Given the description of an element on the screen output the (x, y) to click on. 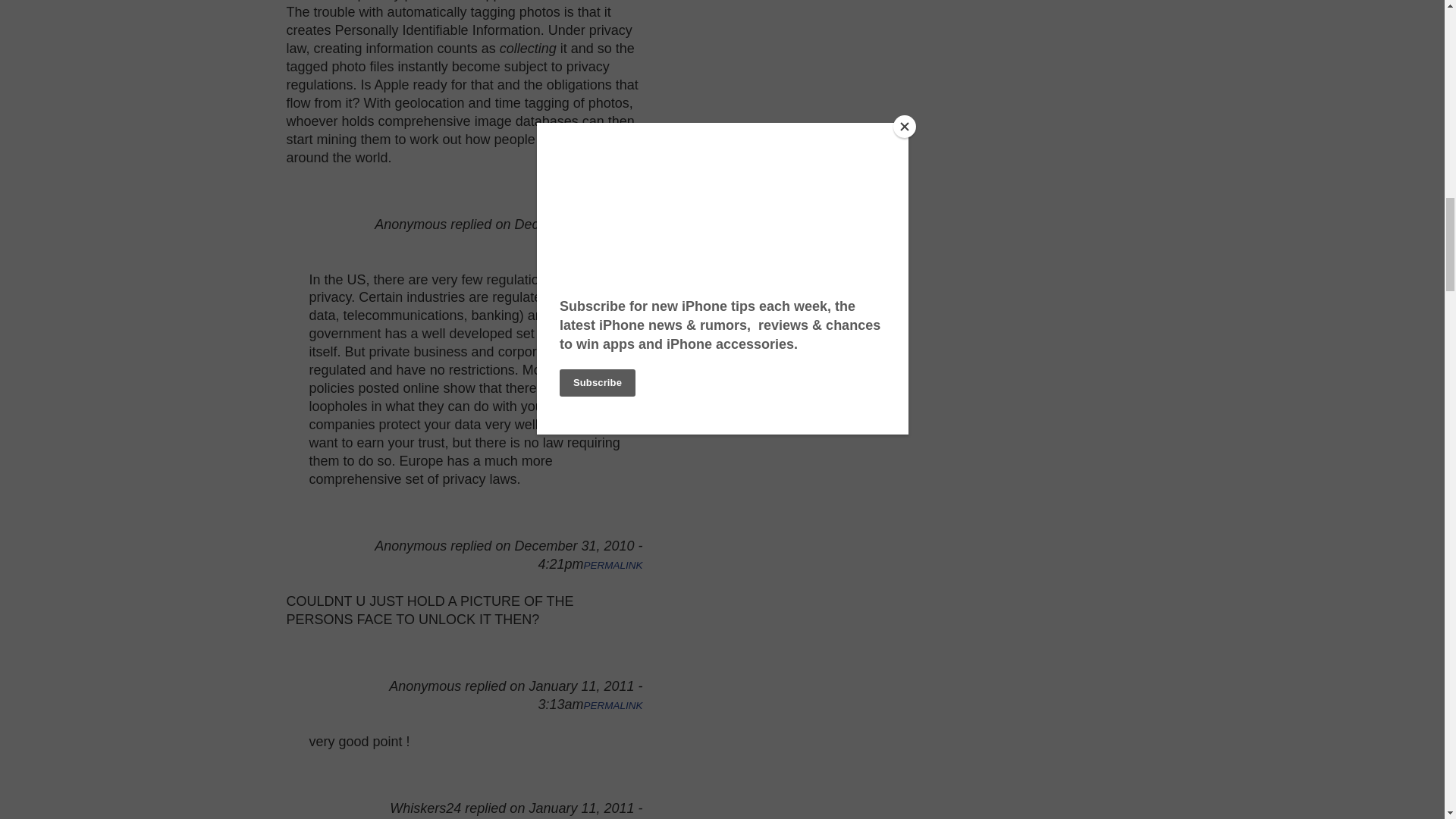
PERMALINK (612, 705)
PERMALINK (612, 564)
PERMALINK (612, 243)
